Given the description of an element on the screen output the (x, y) to click on. 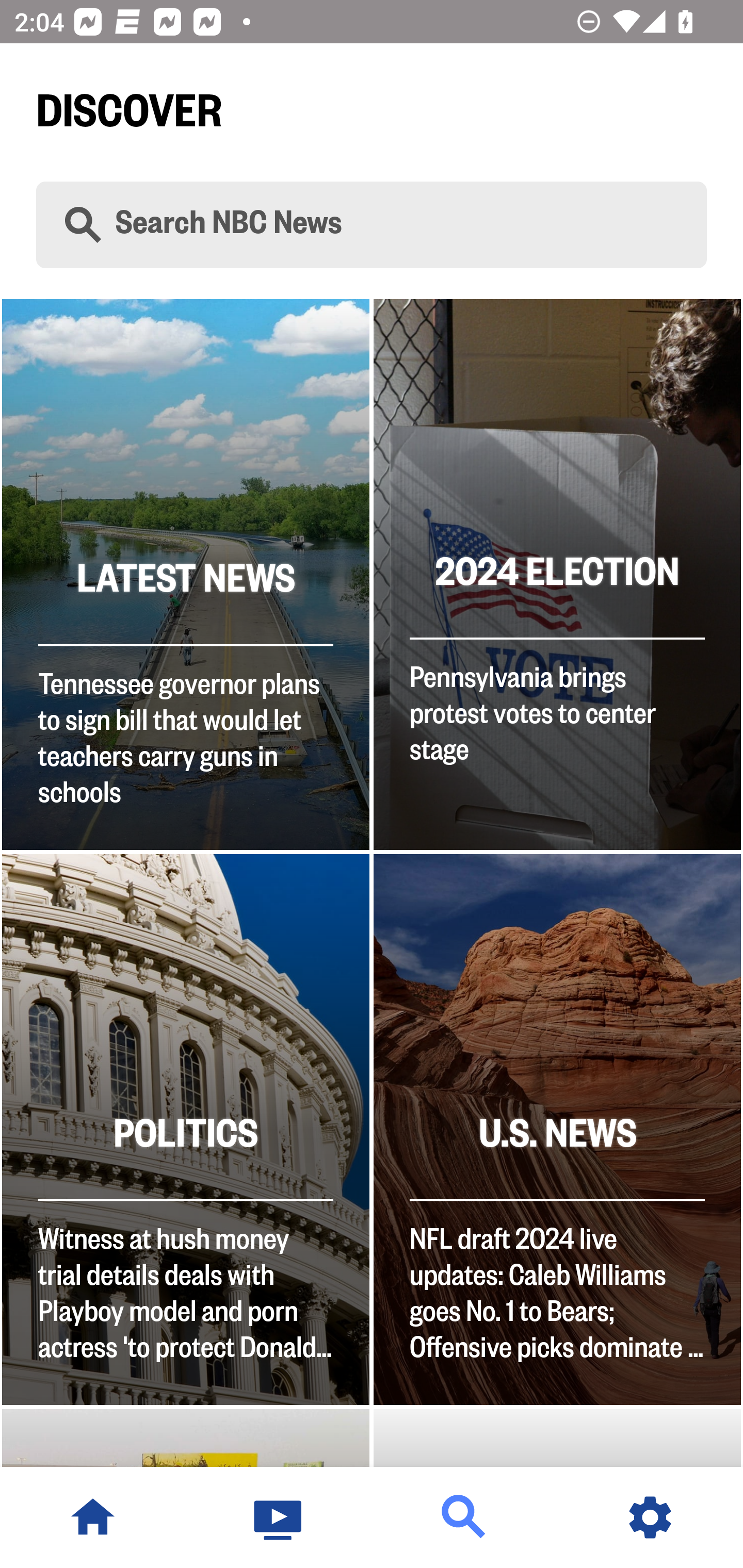
NBC News Home (92, 1517)
Watch (278, 1517)
Settings (650, 1517)
